Given the description of an element on the screen output the (x, y) to click on. 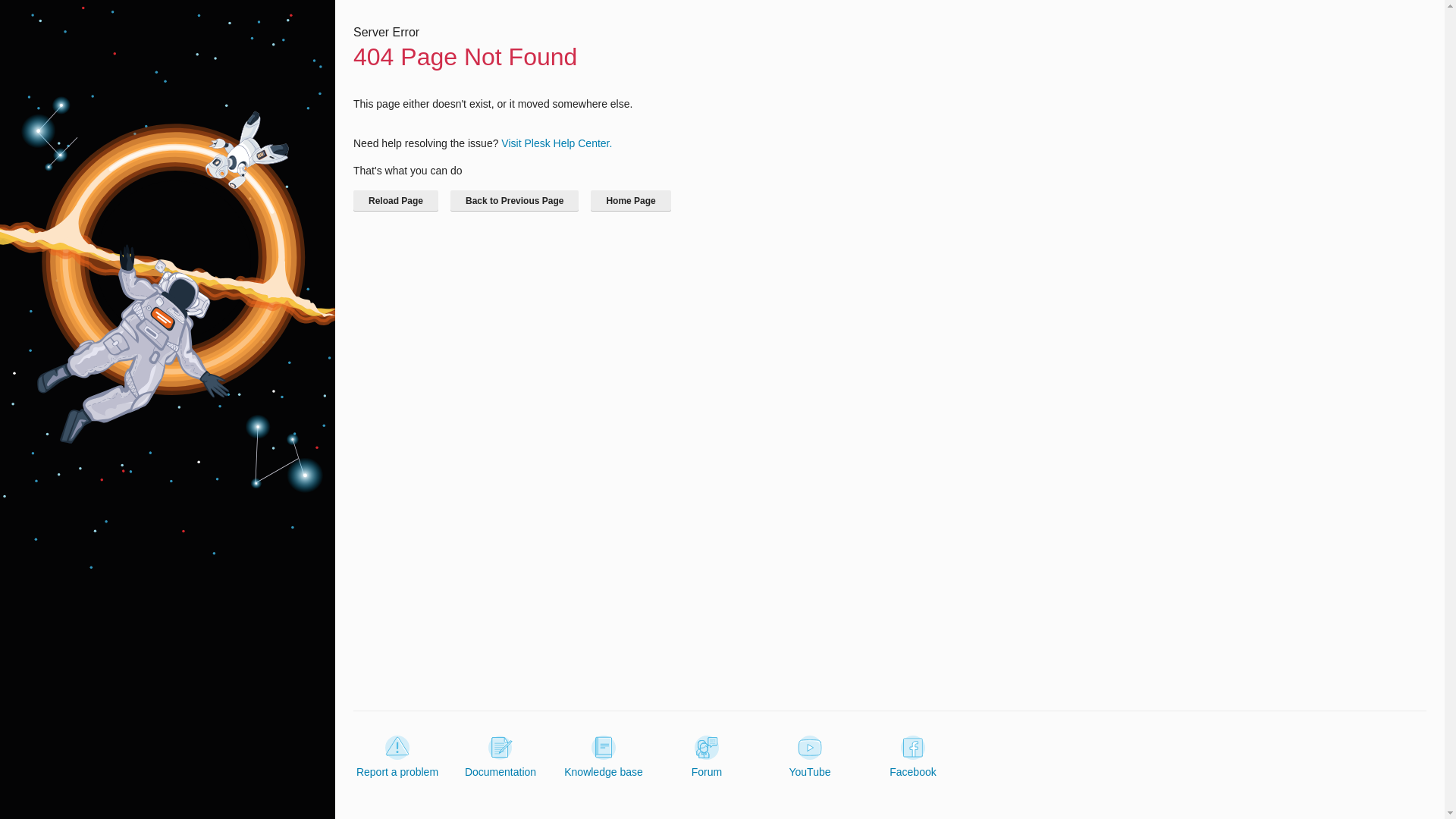
Facebook (912, 757)
Visit Plesk Help Center. (555, 143)
Home Page (630, 200)
Reload Page (395, 200)
Report a problem (397, 757)
Knowledge base (603, 757)
Documentation (500, 757)
Back to Previous Page (513, 200)
Forum (706, 757)
YouTube (809, 757)
